Given the description of an element on the screen output the (x, y) to click on. 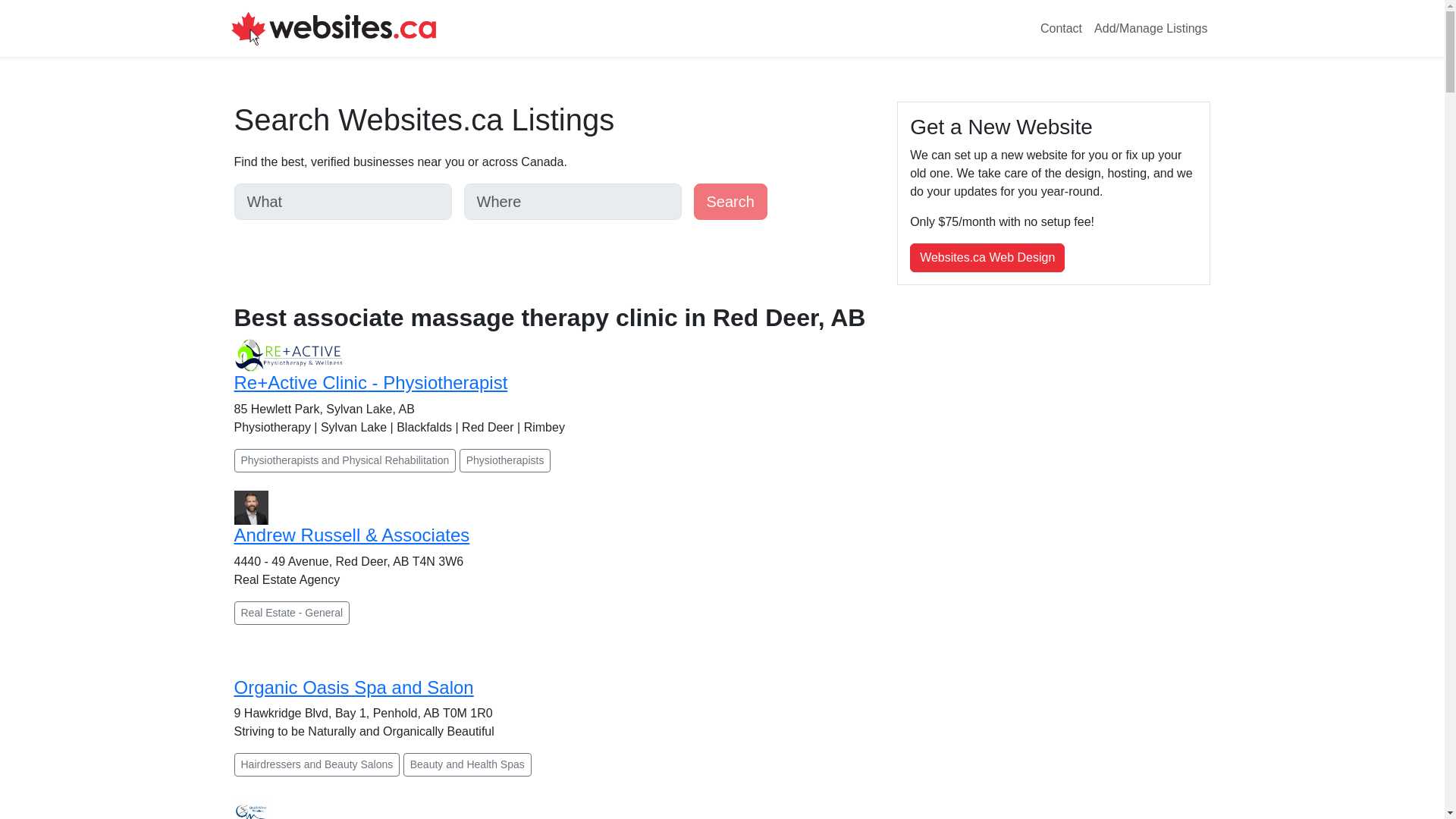
Hairdressers and Beauty Salons (315, 764)
Websites.ca Web Design (987, 257)
Physiotherapists and Physical Rehabilitation (343, 460)
Contact (1060, 28)
Organic Oasis Spa and Salon (352, 687)
Beauty and Health Spas (467, 764)
Physiotherapists (505, 460)
Search (730, 201)
Real Estate - General (290, 612)
